Given the description of an element on the screen output the (x, y) to click on. 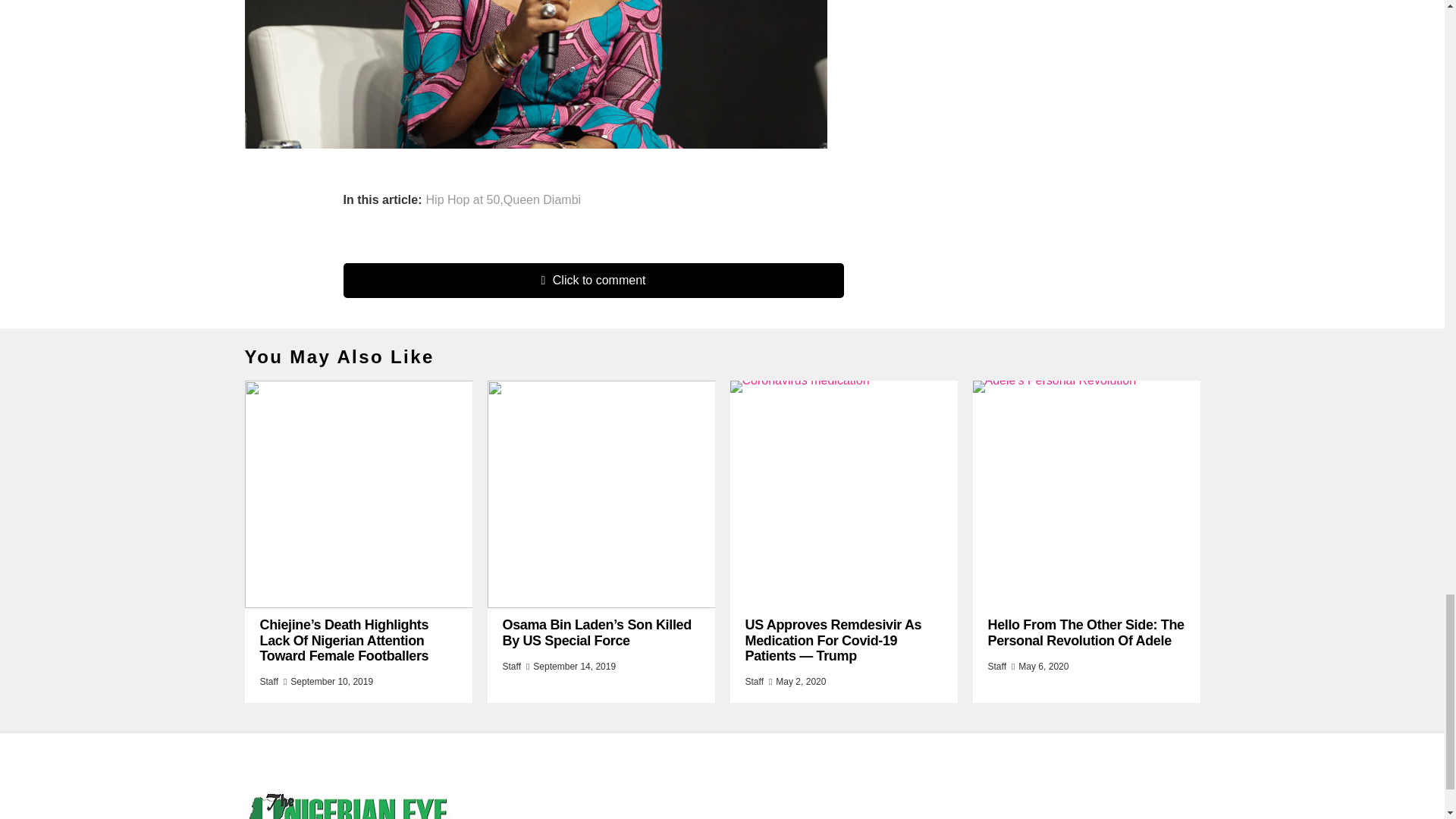
Posts by Staff (753, 681)
Posts by Staff (996, 665)
Posts by Staff (268, 681)
Posts by Staff (510, 665)
